Given the description of an element on the screen output the (x, y) to click on. 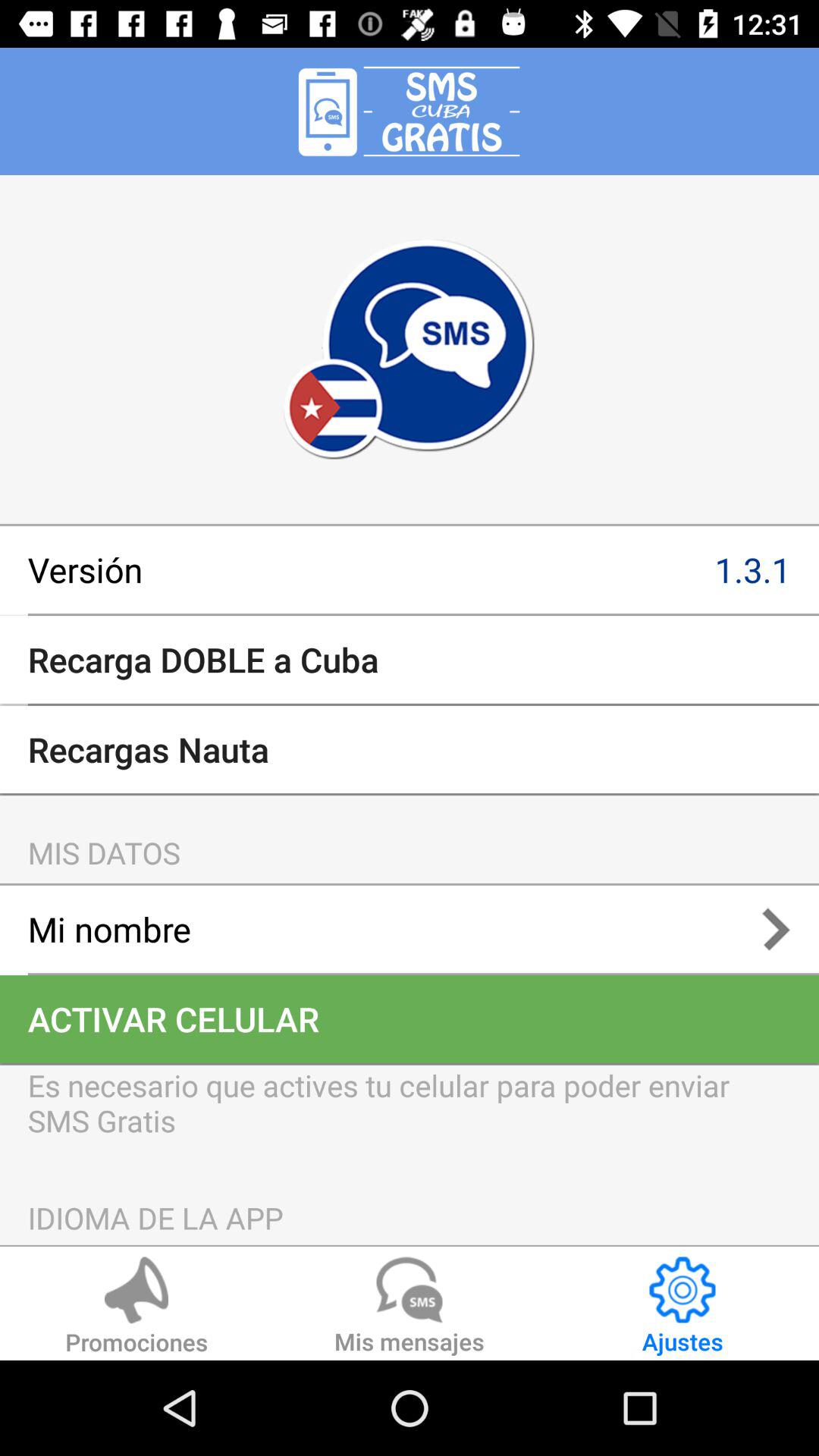
swipe until activar celular icon (409, 1018)
